Given the description of an element on the screen output the (x, y) to click on. 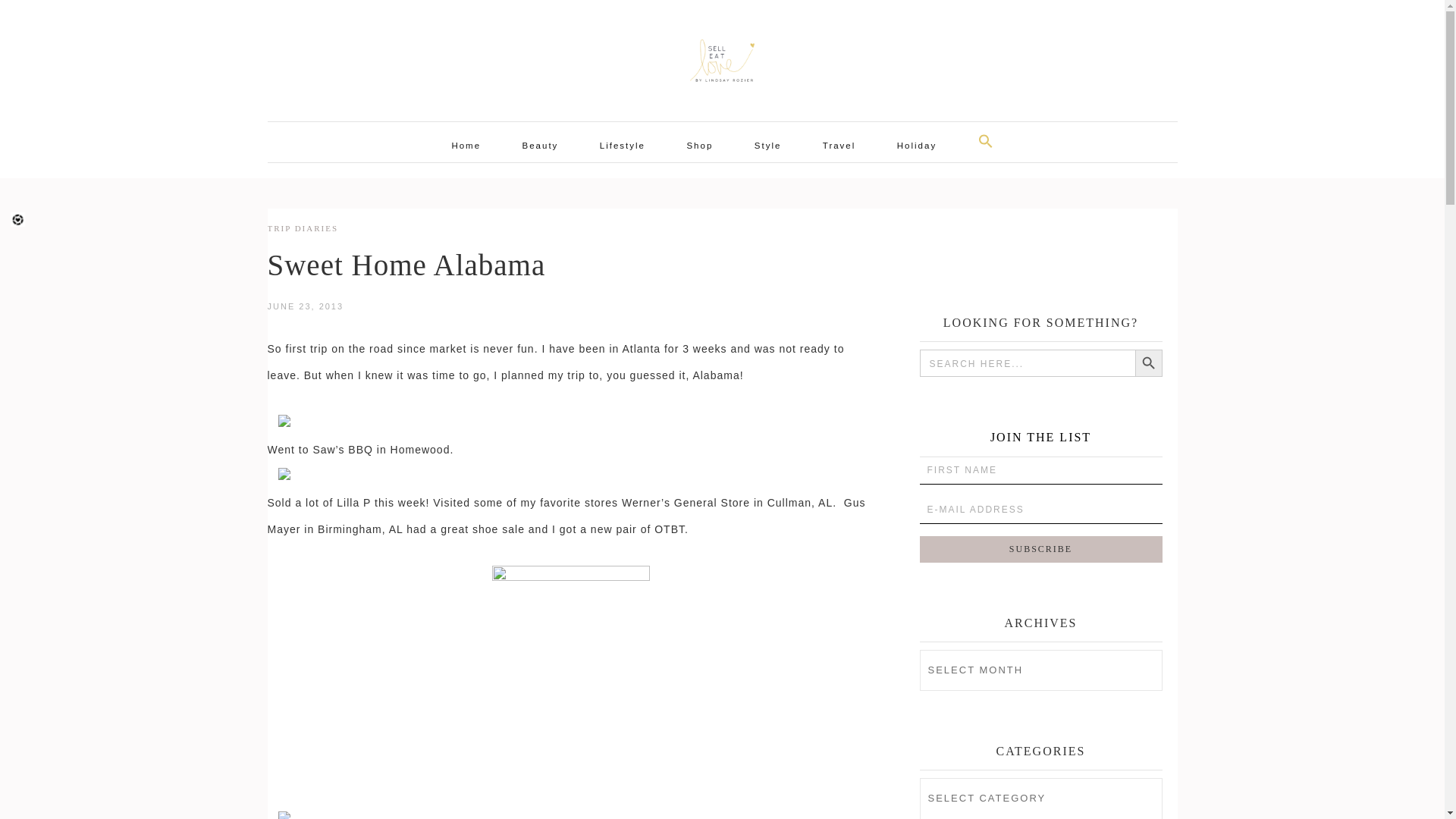
Beauty (539, 145)
Travel (840, 145)
Style (767, 145)
Shop (699, 145)
Home (465, 145)
Lifestyle (621, 145)
SUBSCRIBE (1039, 549)
Holiday (917, 145)
